Given the description of an element on the screen output the (x, y) to click on. 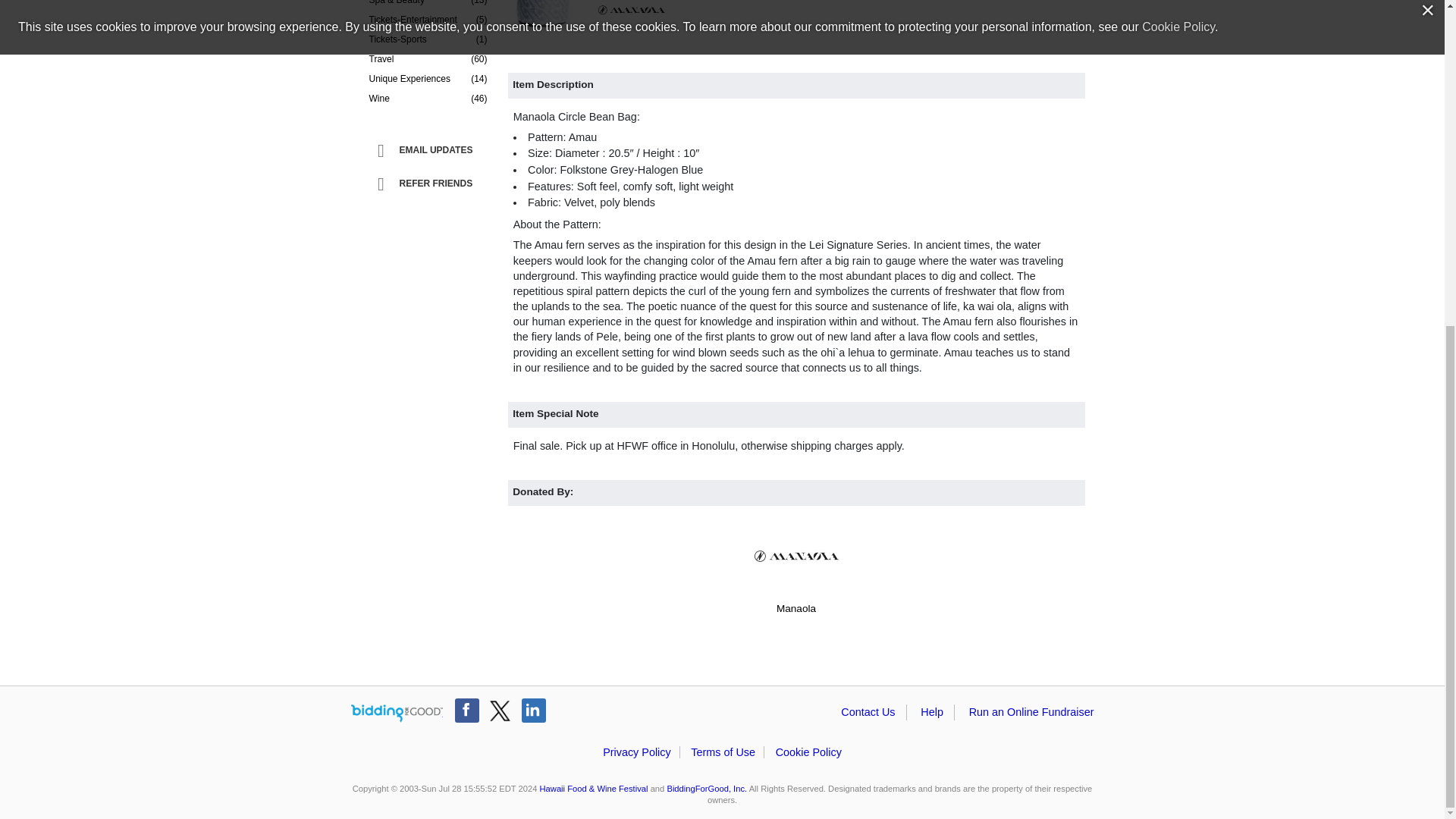
Follow on Linked In (533, 710)
Follow on Facebook (466, 710)
REFER FRIENDS (431, 184)
Follow on Twitter (499, 710)
EMAIL UPDATES (431, 150)
